Given the description of an element on the screen output the (x, y) to click on. 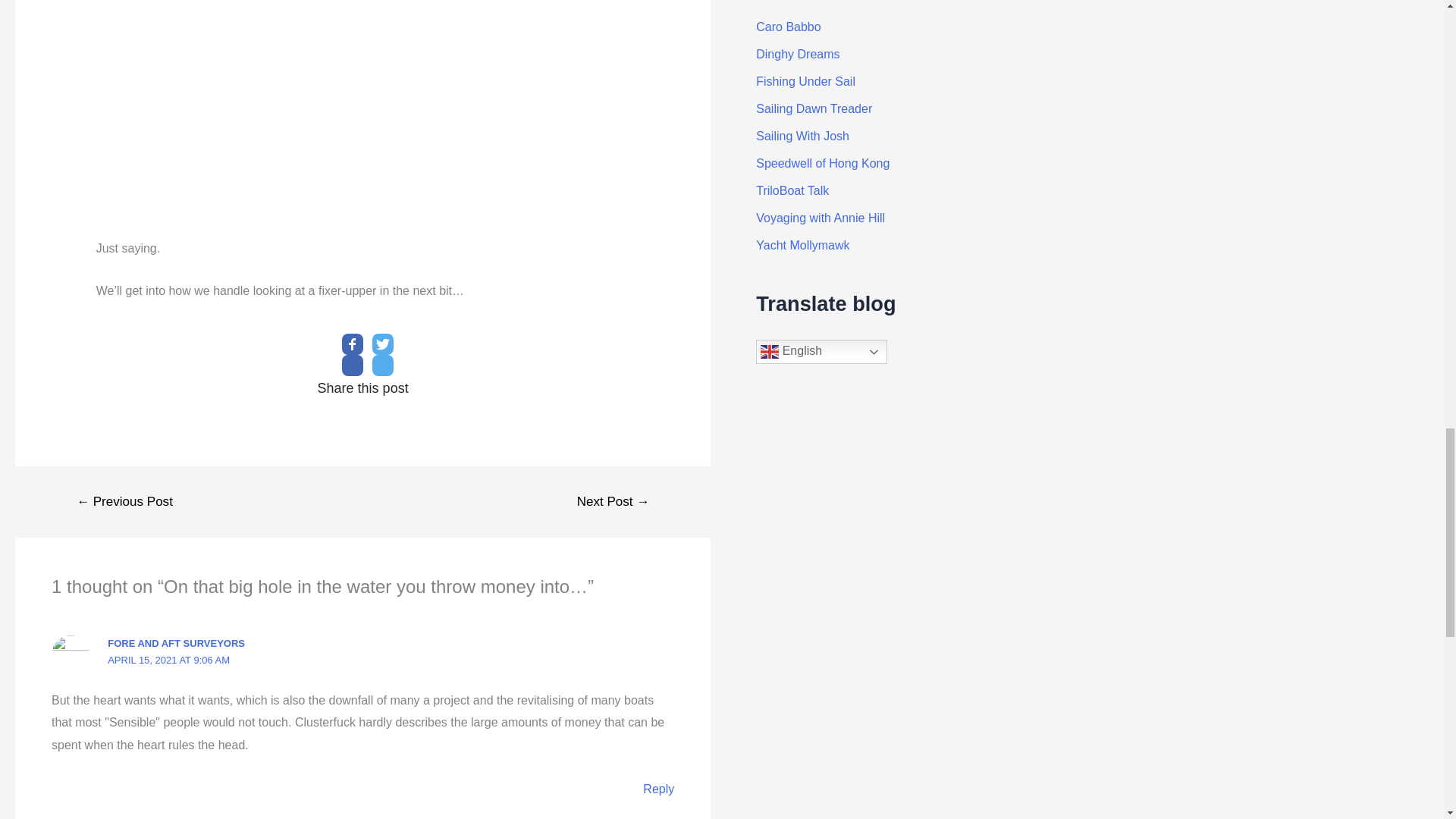
APRIL 15, 2021 AT 9:06 AM (168, 659)
FORE AND AFT SURVEYORS (175, 643)
Reply (658, 788)
